Given the description of an element on the screen output the (x, y) to click on. 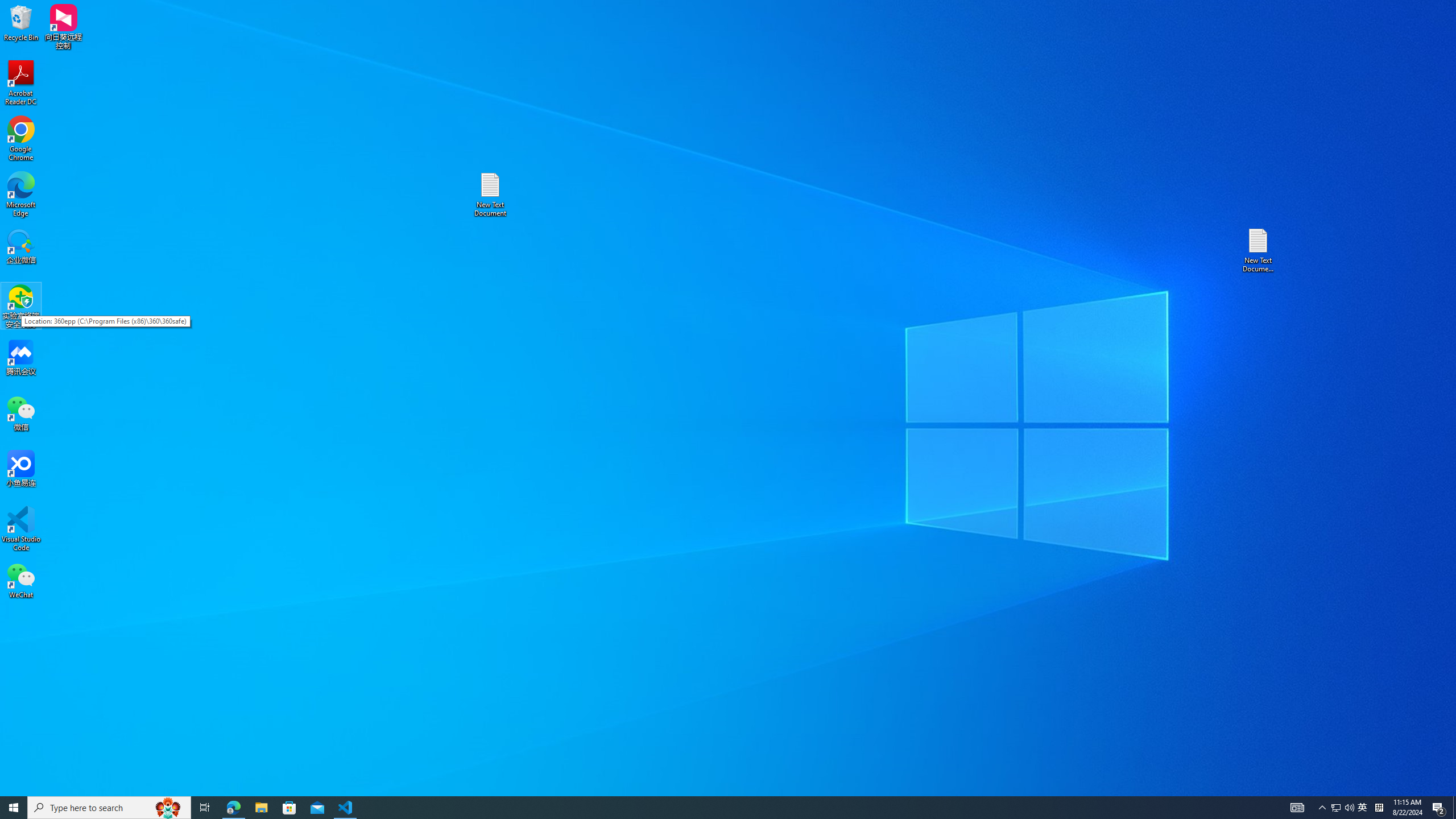
WeChat (21, 580)
Recycle Bin (21, 22)
Task View (204, 807)
Show desktop (1454, 807)
Microsoft Edge (21, 194)
Running applications (707, 807)
Start (1335, 807)
User Promoted Notification Area (13, 807)
File Explorer (1342, 807)
Search highlights icon opens search home window (261, 807)
New Text Document (167, 807)
